Given the description of an element on the screen output the (x, y) to click on. 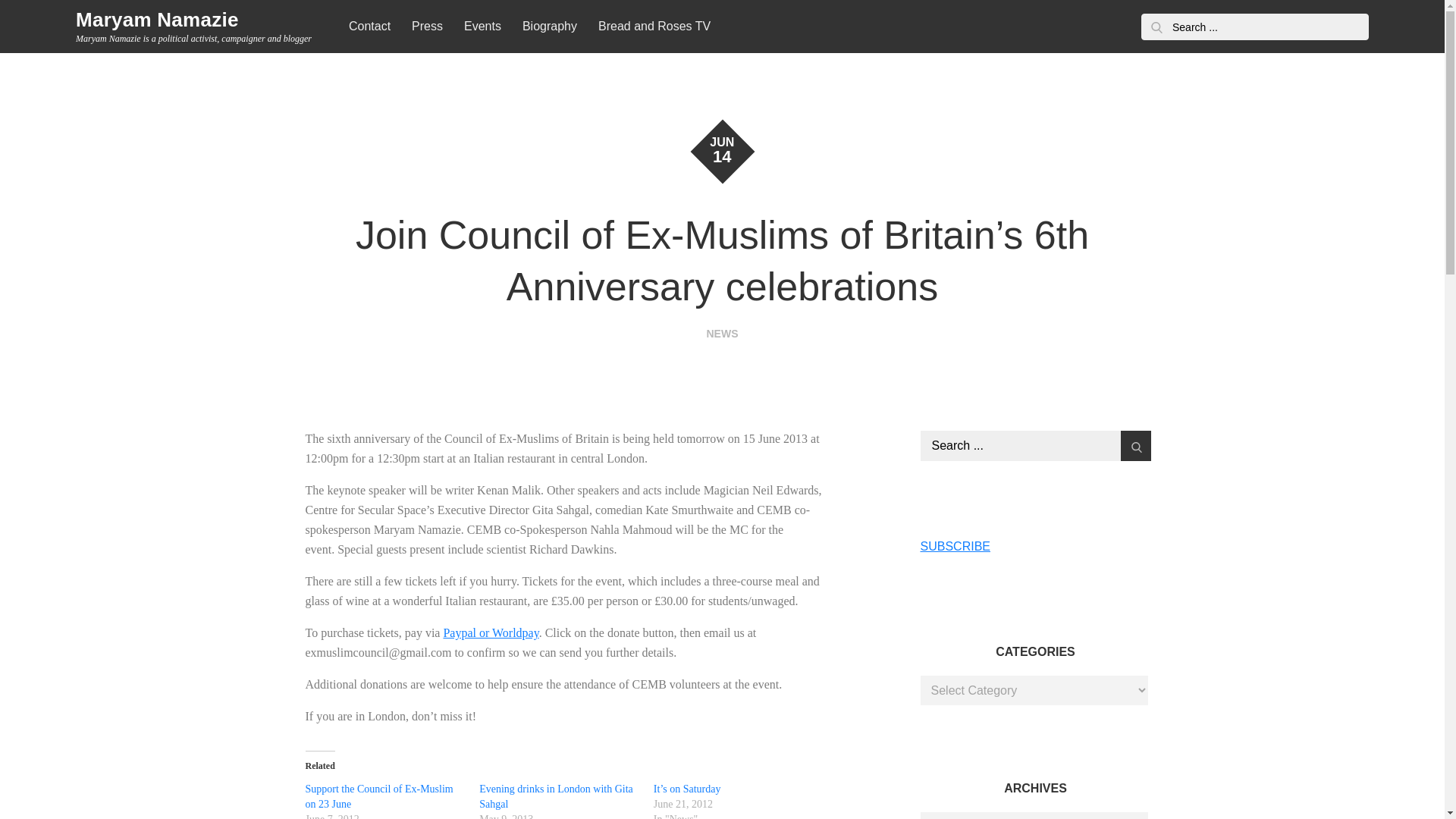
Maryam Namazie (156, 19)
Search for: (1035, 445)
Events (482, 26)
Evening drinks in London with Gita Sahgal (556, 795)
Biography (549, 26)
Search (1136, 445)
Search (1156, 26)
Support the Council of Ex-Muslim on 23 June (378, 795)
Bread and Roses TV (654, 26)
Contact (368, 26)
